Given the description of an element on the screen output the (x, y) to click on. 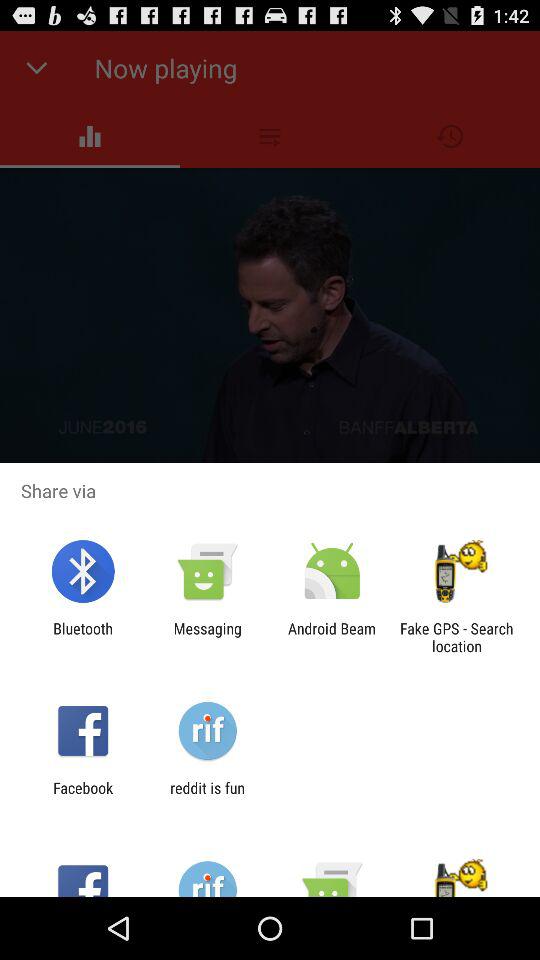
turn on icon to the right of bluetooth item (207, 637)
